Given the description of an element on the screen output the (x, y) to click on. 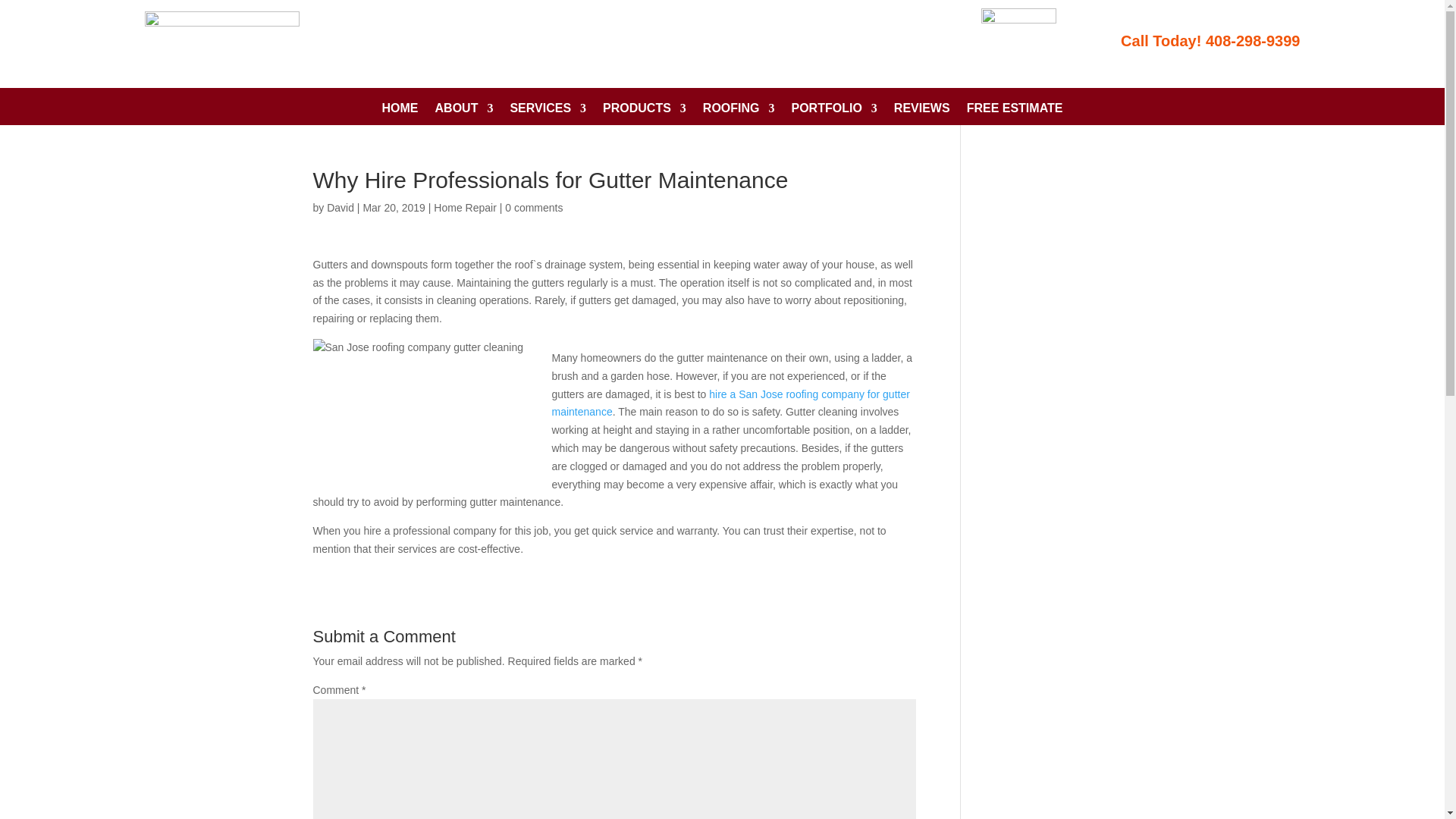
0 comments (533, 207)
FREE ESTIMATE (1014, 111)
Home Repair (464, 207)
logo-right (1019, 44)
PORTFOLIO (834, 111)
ABOUT (464, 111)
Posts by David (339, 207)
PRODUCTS (643, 111)
REVIEWS (921, 111)
hire a San Jose roofing company for gutter maintenance (730, 403)
